Given the description of an element on the screen output the (x, y) to click on. 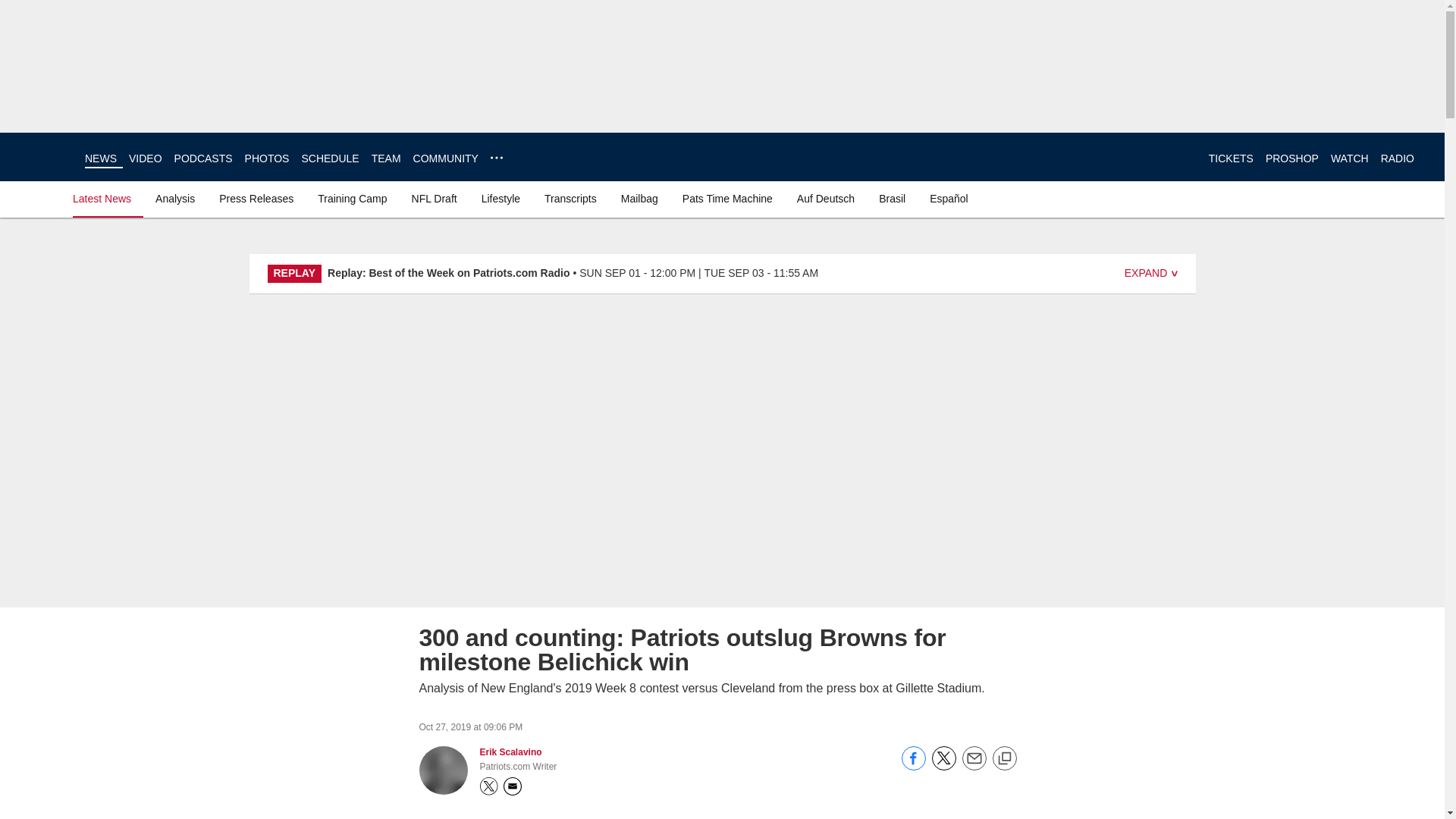
Latest News (104, 198)
TEAM (386, 158)
RADIO (1396, 158)
TICKETS (1230, 158)
... (496, 157)
WATCH (1349, 158)
Mailbag (638, 198)
Transcripts (570, 198)
NFL Draft (434, 198)
Replay: Best of the Week on Patriots.com Radio (448, 272)
